Given the description of an element on the screen output the (x, y) to click on. 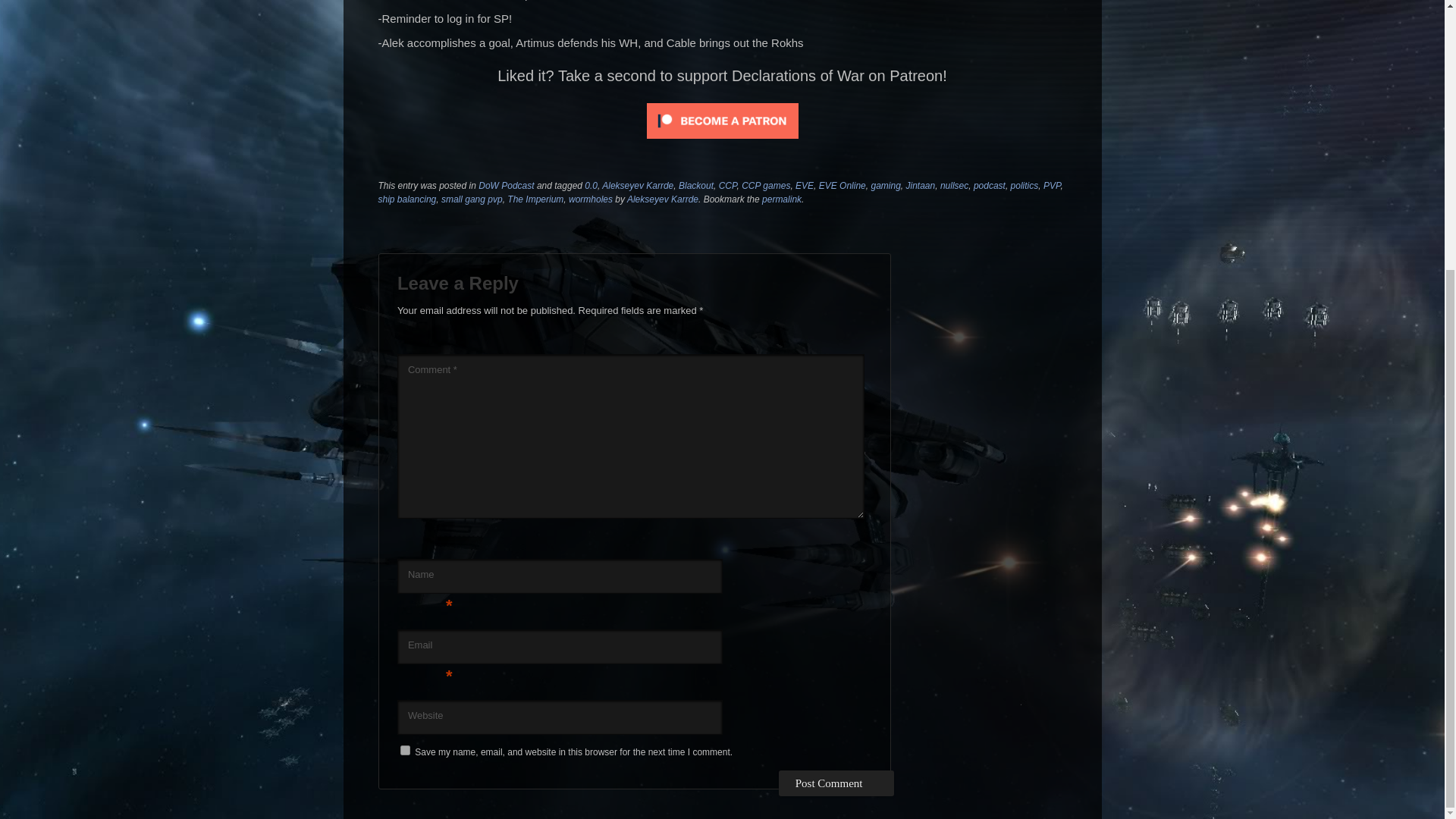
small gang pvp (471, 199)
Blackout (695, 185)
ship balancing (406, 199)
Post Comment (836, 783)
EVE Online (842, 185)
politics (1024, 185)
wormholes (590, 199)
EVE (803, 185)
PVP (1051, 185)
DoW Podcast (506, 185)
